Given the description of an element on the screen output the (x, y) to click on. 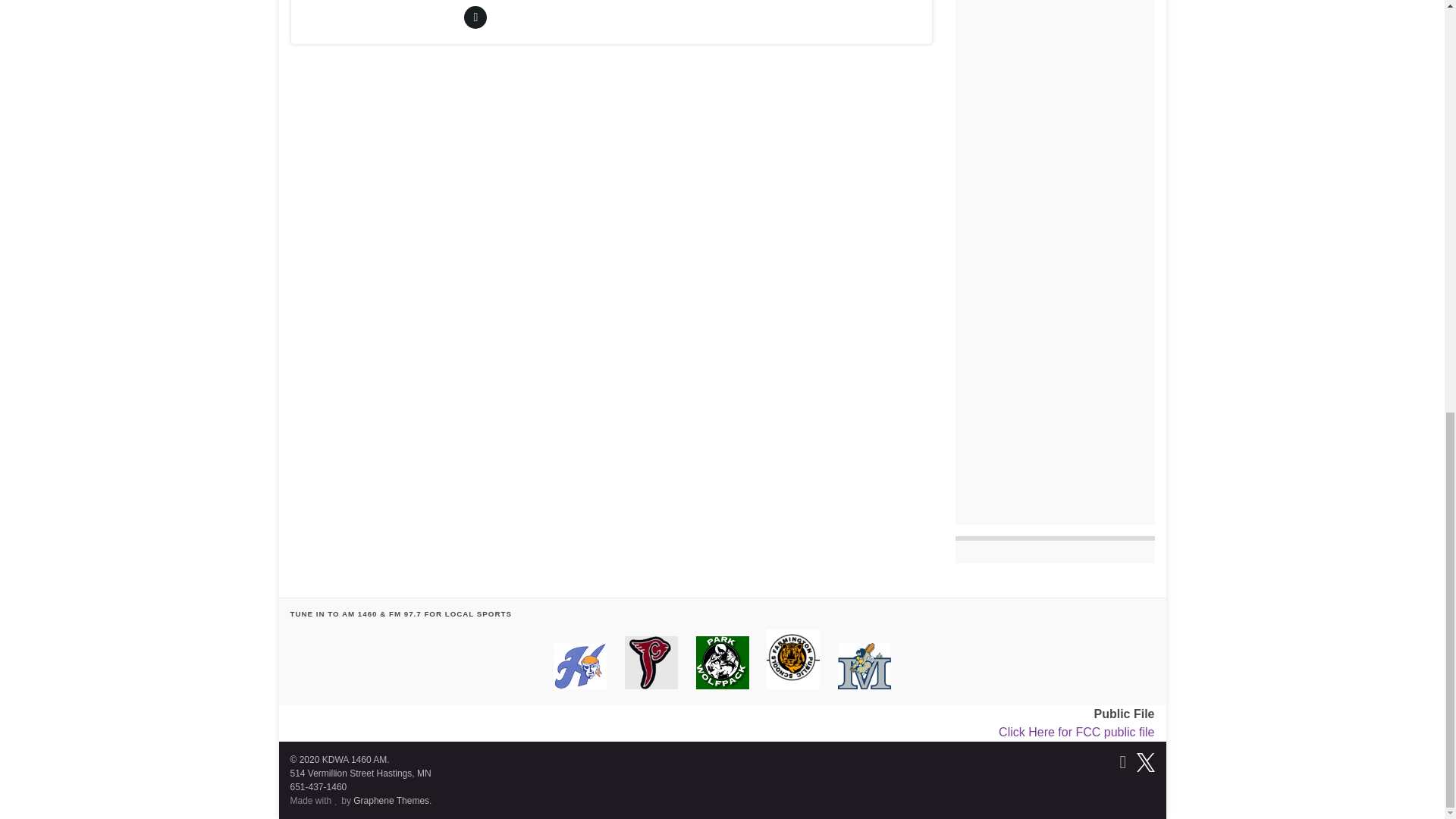
Visit KDWA on Twitter (1144, 761)
